Given the description of an element on the screen output the (x, y) to click on. 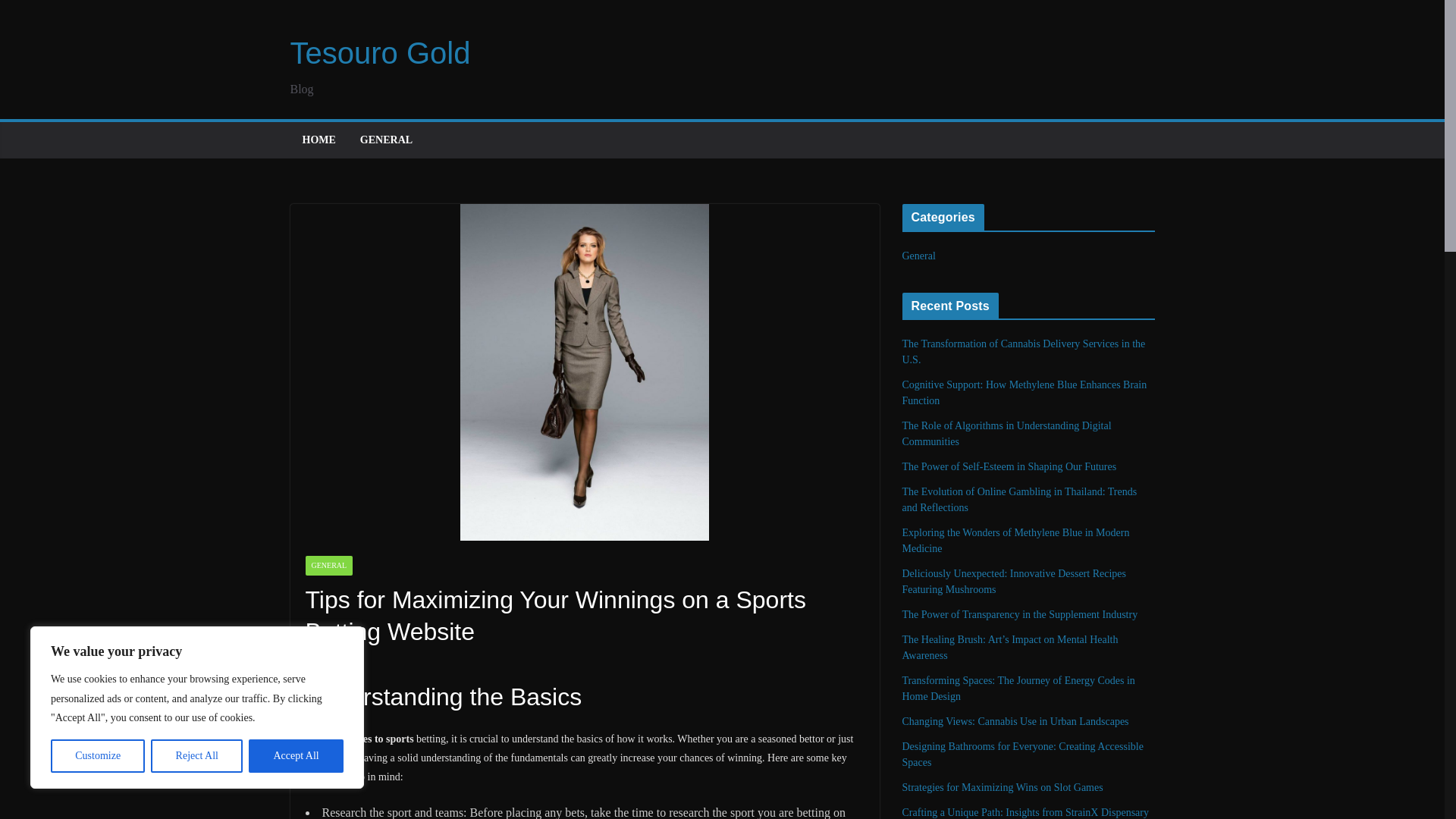
Accept All (295, 756)
The Power of Transparency in the Supplement Industry (1020, 614)
Customize (97, 756)
The Transformation of Cannabis Delivery Services in the U.S. (1023, 351)
Tesouro Gold (379, 52)
GENERAL (385, 139)
Tesouro Gold (379, 52)
